Given the description of an element on the screen output the (x, y) to click on. 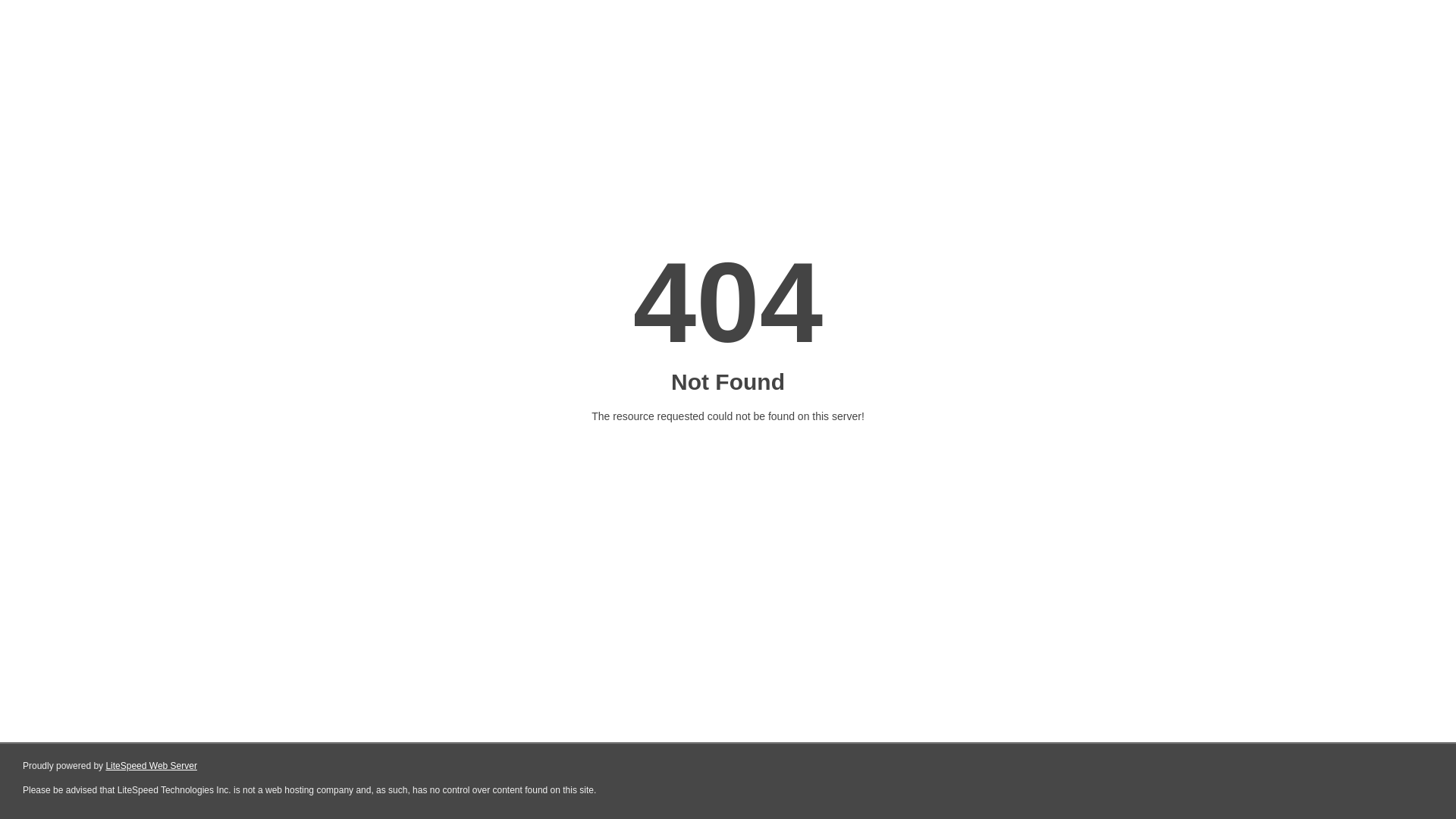
LiteSpeed Web Server Element type: text (151, 765)
